Given the description of an element on the screen output the (x, y) to click on. 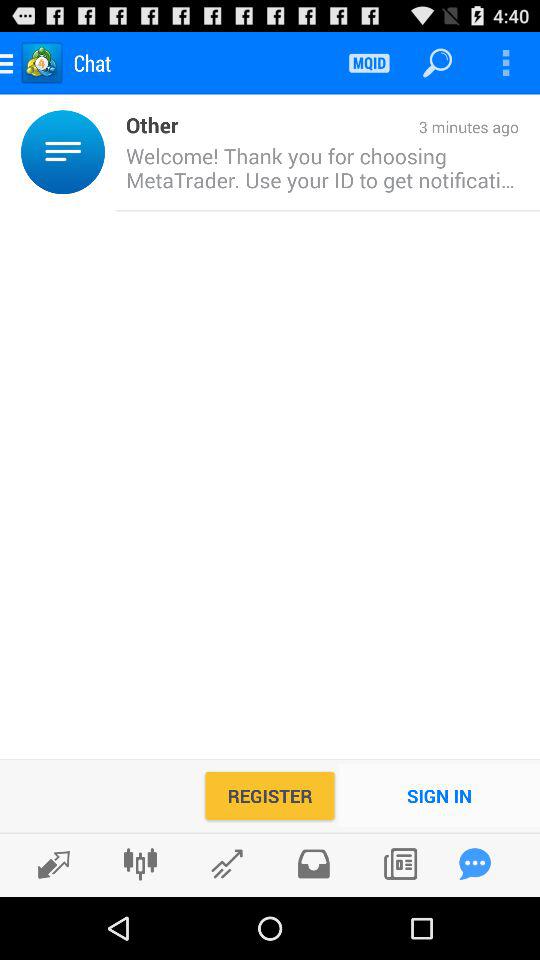
select item next to the register item (439, 795)
